Given the description of an element on the screen output the (x, y) to click on. 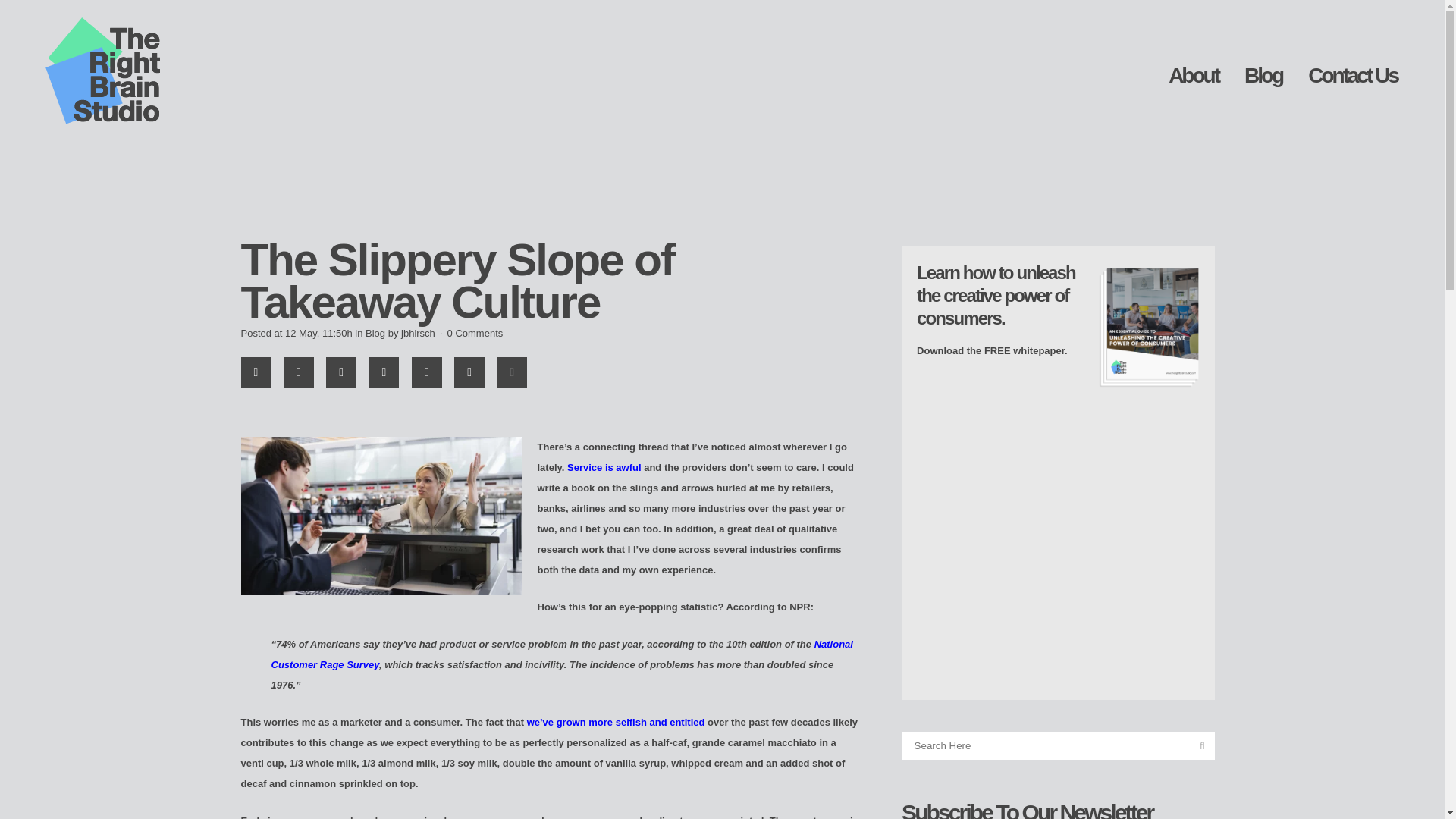
Blog (375, 333)
Service is awful (604, 467)
About (1193, 75)
0 Comments (474, 333)
Blog (1263, 75)
National Customer Rage Survey (561, 654)
Form 0 (1058, 539)
jbhirsch (418, 333)
Contact Us (1352, 75)
